Given the description of an element on the screen output the (x, y) to click on. 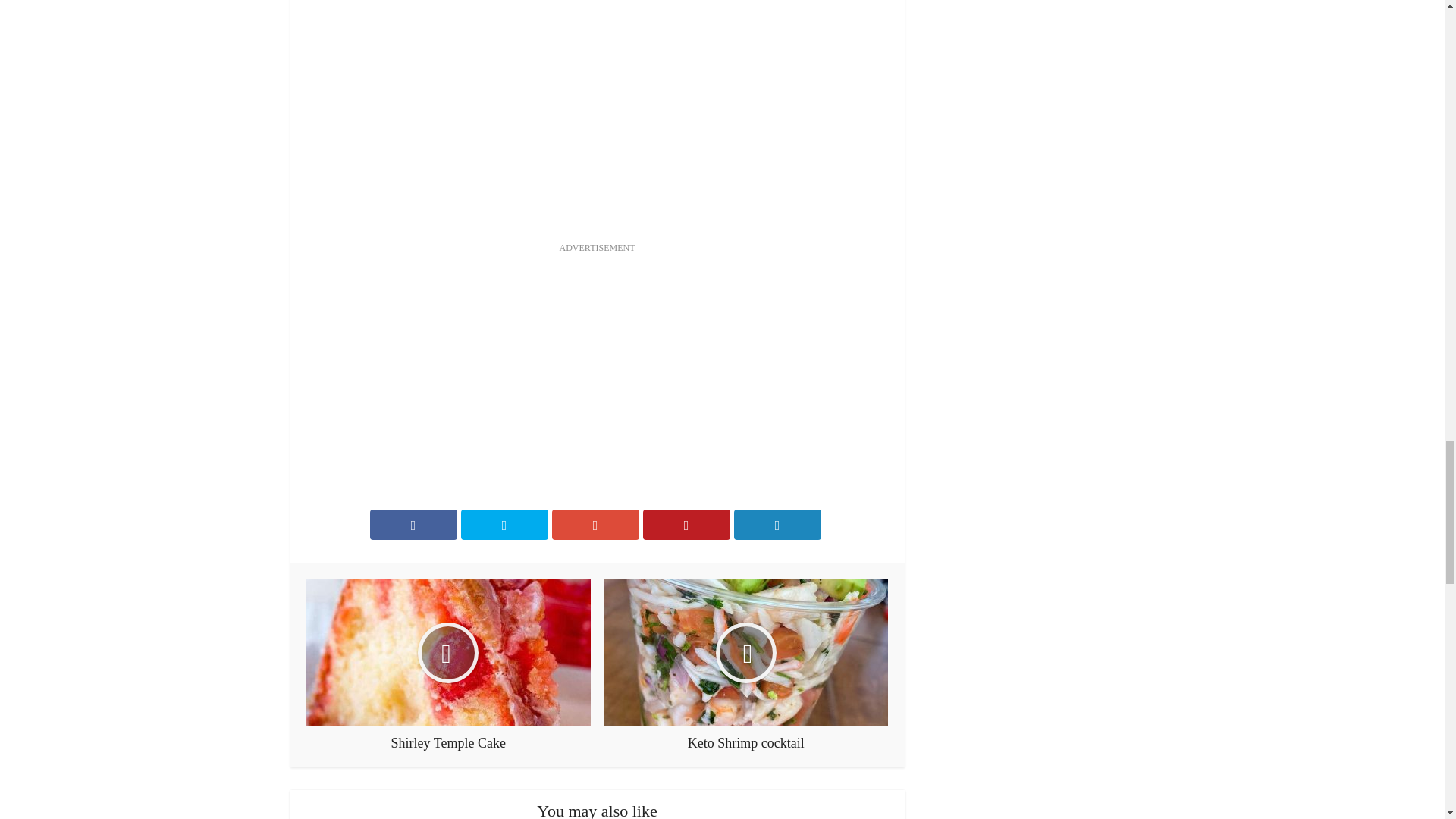
Keto Shrimp cocktail (746, 665)
Shirley Temple Cake (448, 665)
